Given the description of an element on the screen output the (x, y) to click on. 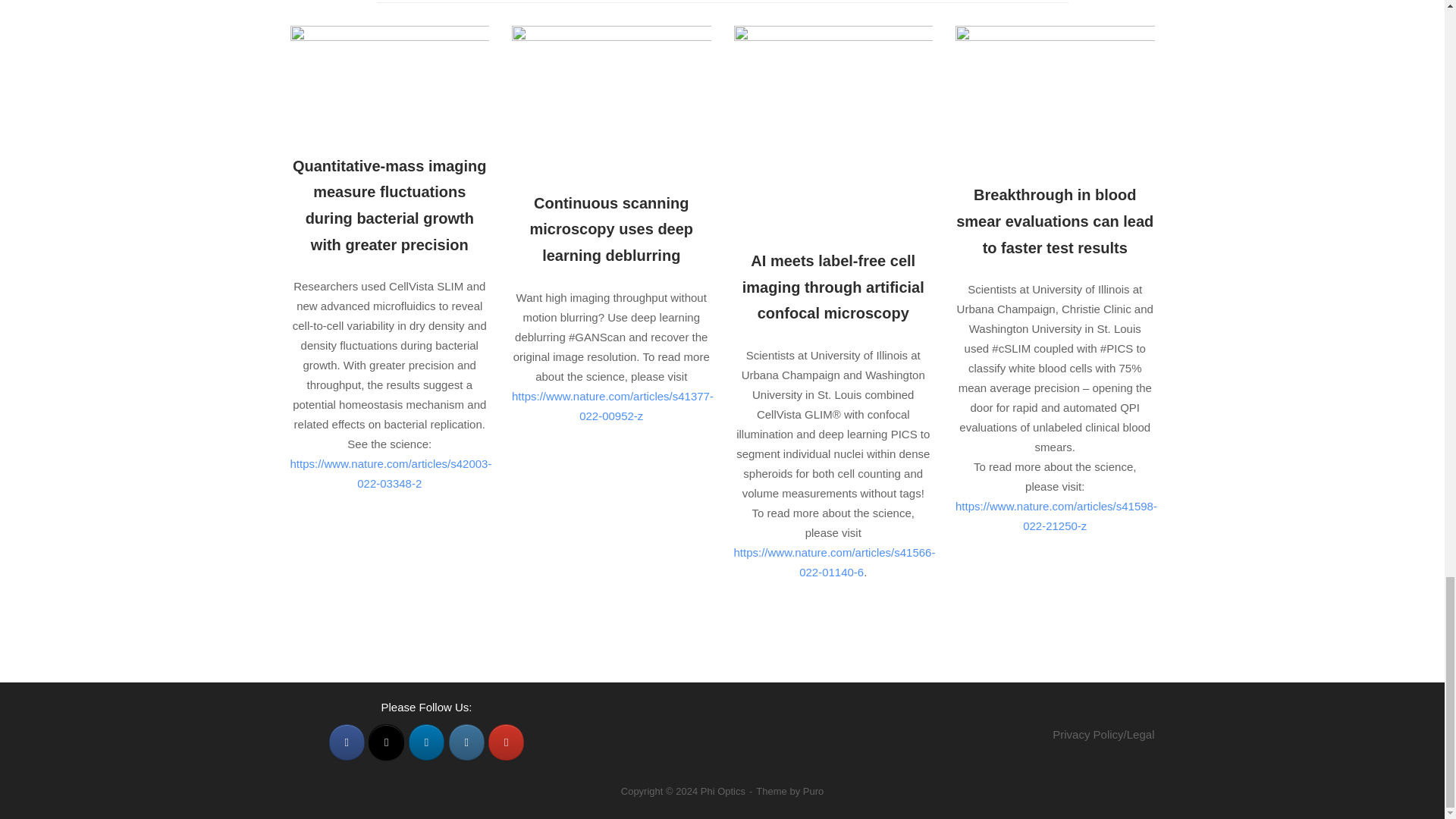
Phi Optics on Linkedin (426, 741)
Phi Optics on X Twitter (386, 741)
Phi Optics on Facebook (347, 741)
Phi Optics on Instagram (466, 741)
Phi Optics on Youtube (505, 741)
